Given the description of an element on the screen output the (x, y) to click on. 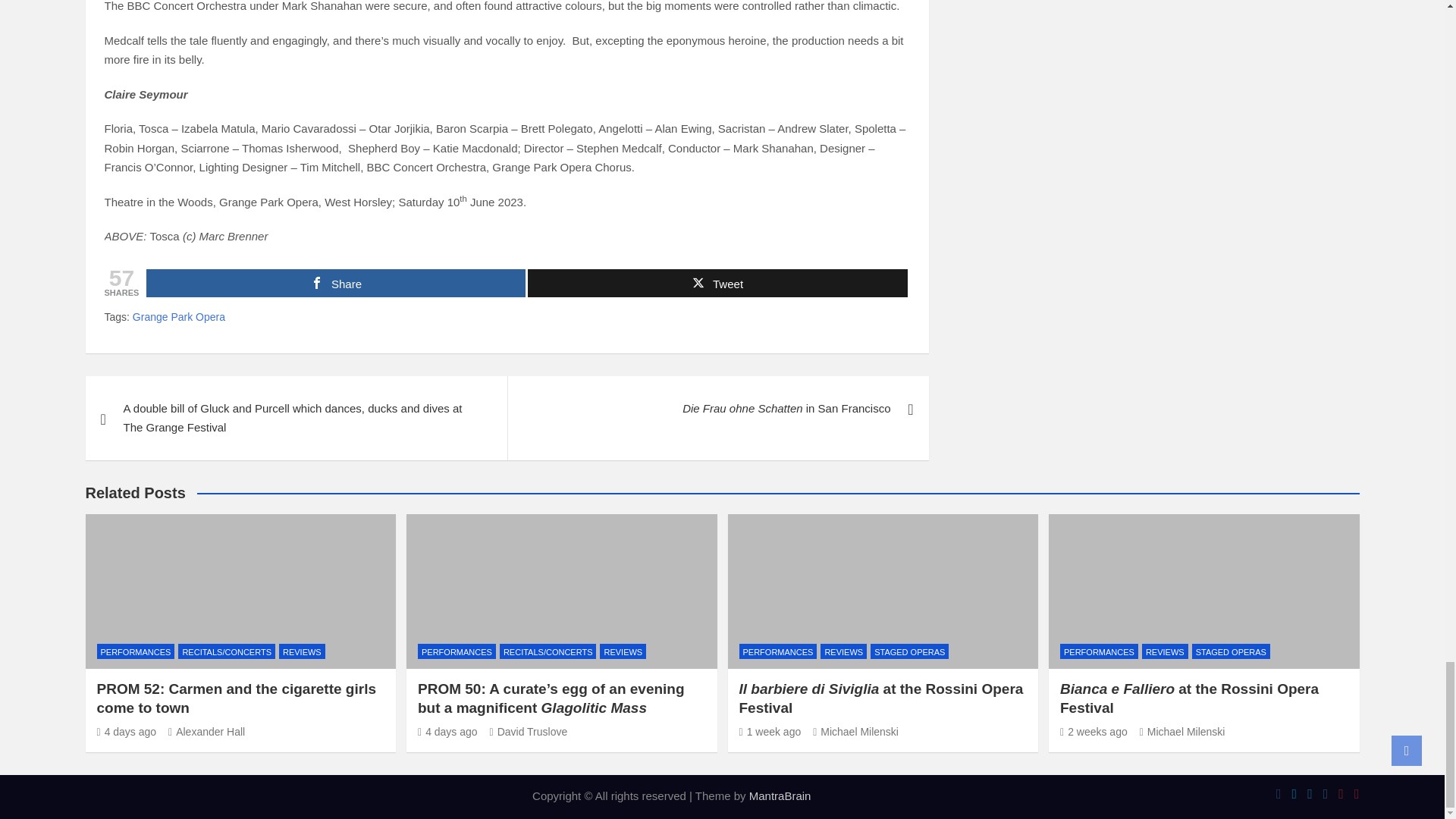
MantraBrain (779, 795)
4 days ago (127, 731)
 Il barbiere di Siviglia  at the Rossini Opera Festival (769, 731)
Share (336, 283)
Tweet (717, 283)
Bianca e Falliero at the Rossini Opera Festival (1092, 731)
PERFORMANCES (456, 651)
Grange Park Opera (178, 317)
Die Frau ohne Schatten in San Francisco (717, 408)
